Given the description of an element on the screen output the (x, y) to click on. 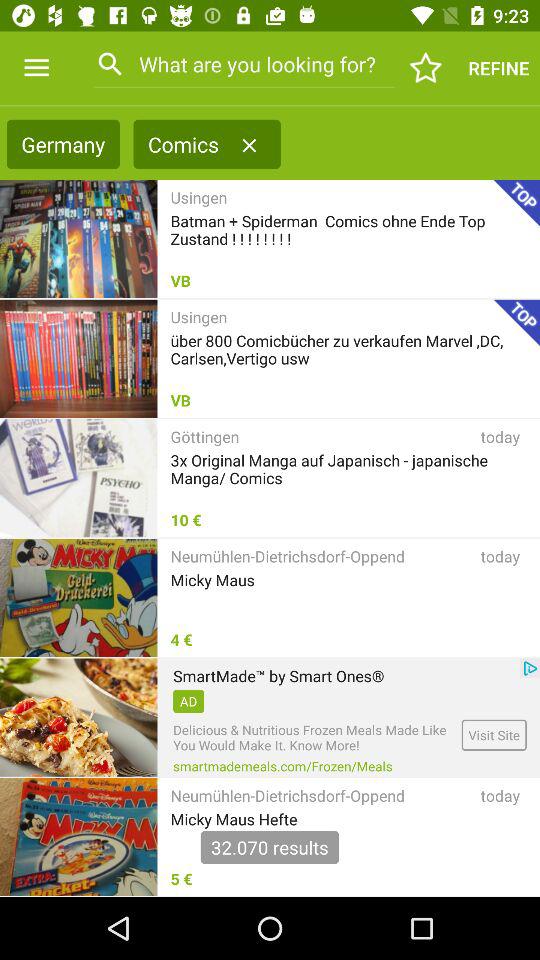
click item to the right of delicious nutritious frozen item (493, 734)
